Given the description of an element on the screen output the (x, y) to click on. 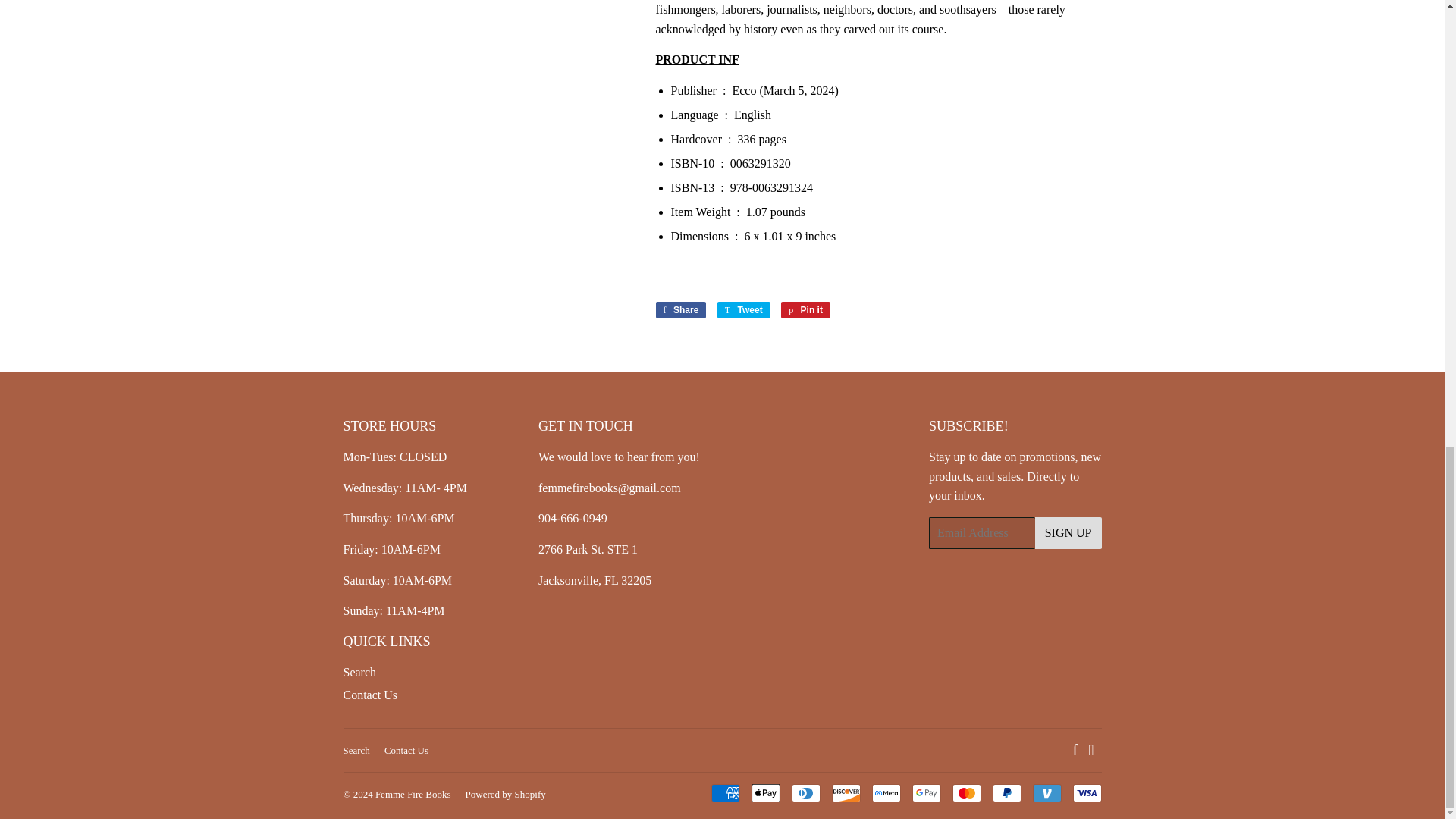
Discover (845, 792)
PayPal (1005, 792)
Google Pay (925, 792)
Mastercard (966, 792)
Meta Pay (886, 792)
Venmo (1046, 792)
Apple Pay (764, 792)
Tweet on Twitter (743, 310)
American Express (725, 792)
Visa (1085, 792)
Share on Facebook (680, 310)
Pin on Pinterest (804, 310)
Diners Club (806, 792)
